Given the description of an element on the screen output the (x, y) to click on. 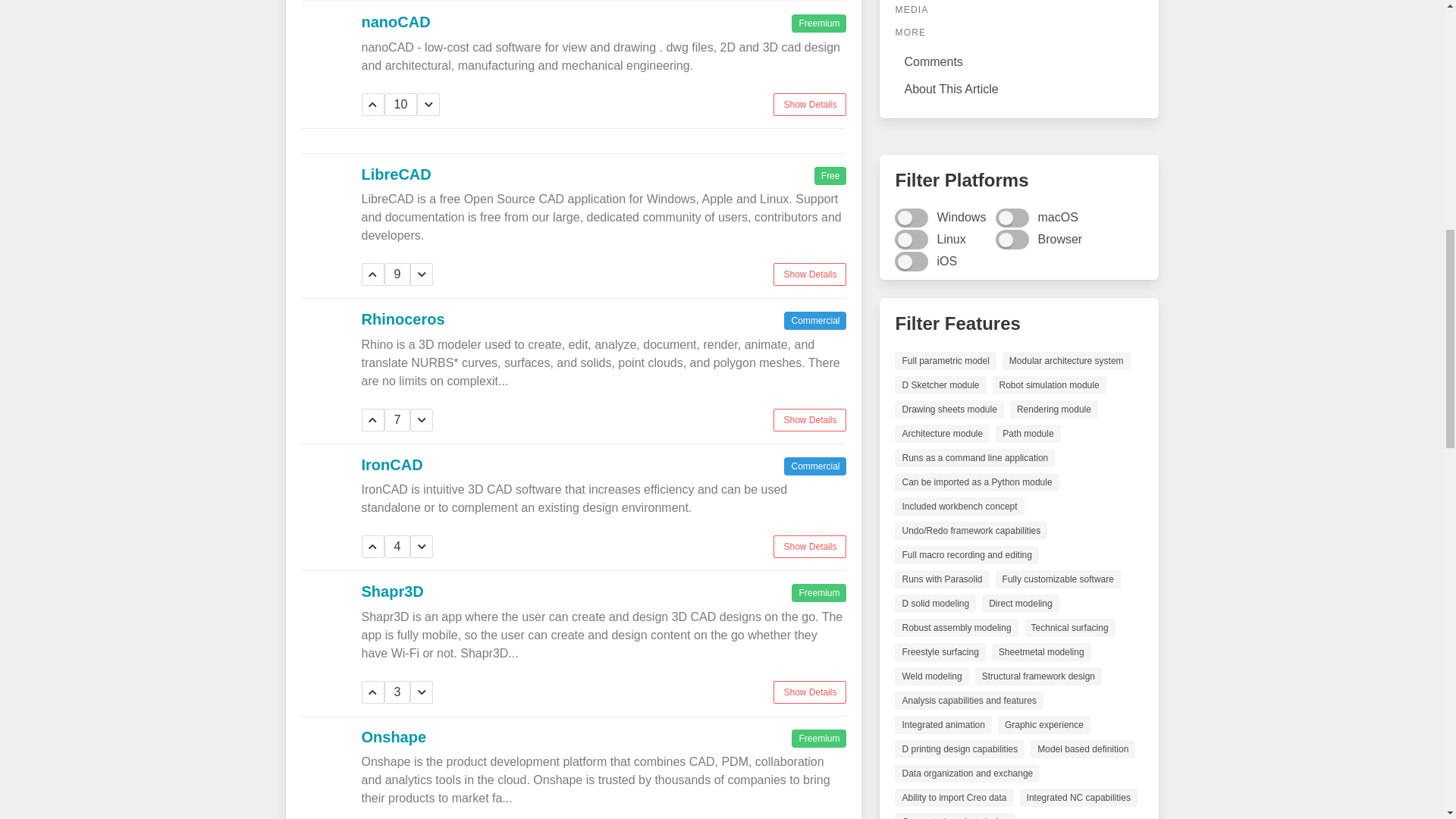
nanoCAD (395, 21)
Show Details (809, 546)
Show Details (809, 273)
Onshape (393, 736)
LibreCAD (395, 173)
Rhinoceros (402, 319)
Show Details (809, 103)
Shapr3D (392, 591)
IronCAD (391, 464)
Show Details (809, 418)
Show Details (809, 691)
